Given the description of an element on the screen output the (x, y) to click on. 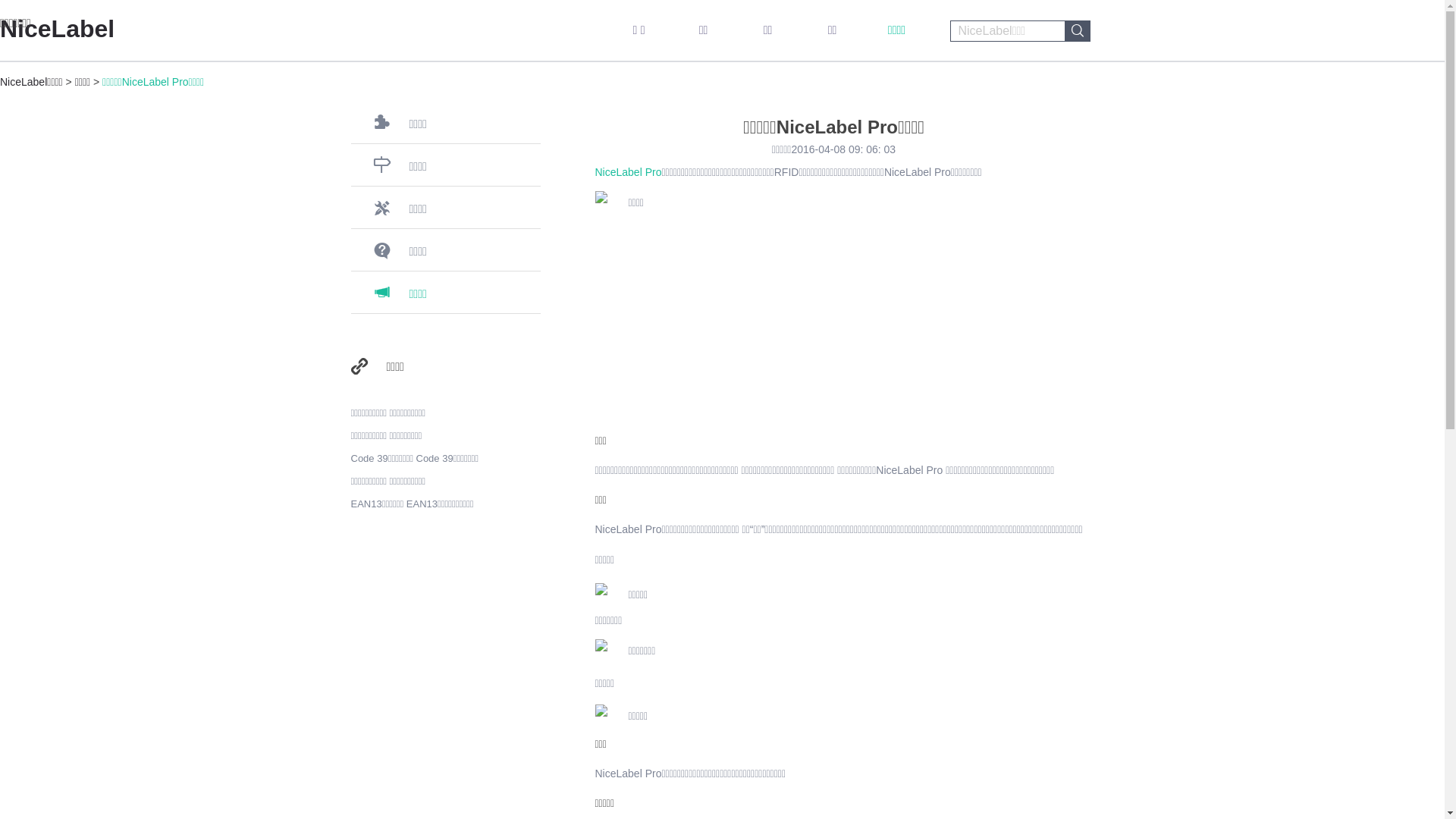
NiceLabel Element type: text (57, 28)
NiceLabel Pro Element type: text (627, 172)
